Given the description of an element on the screen output the (x, y) to click on. 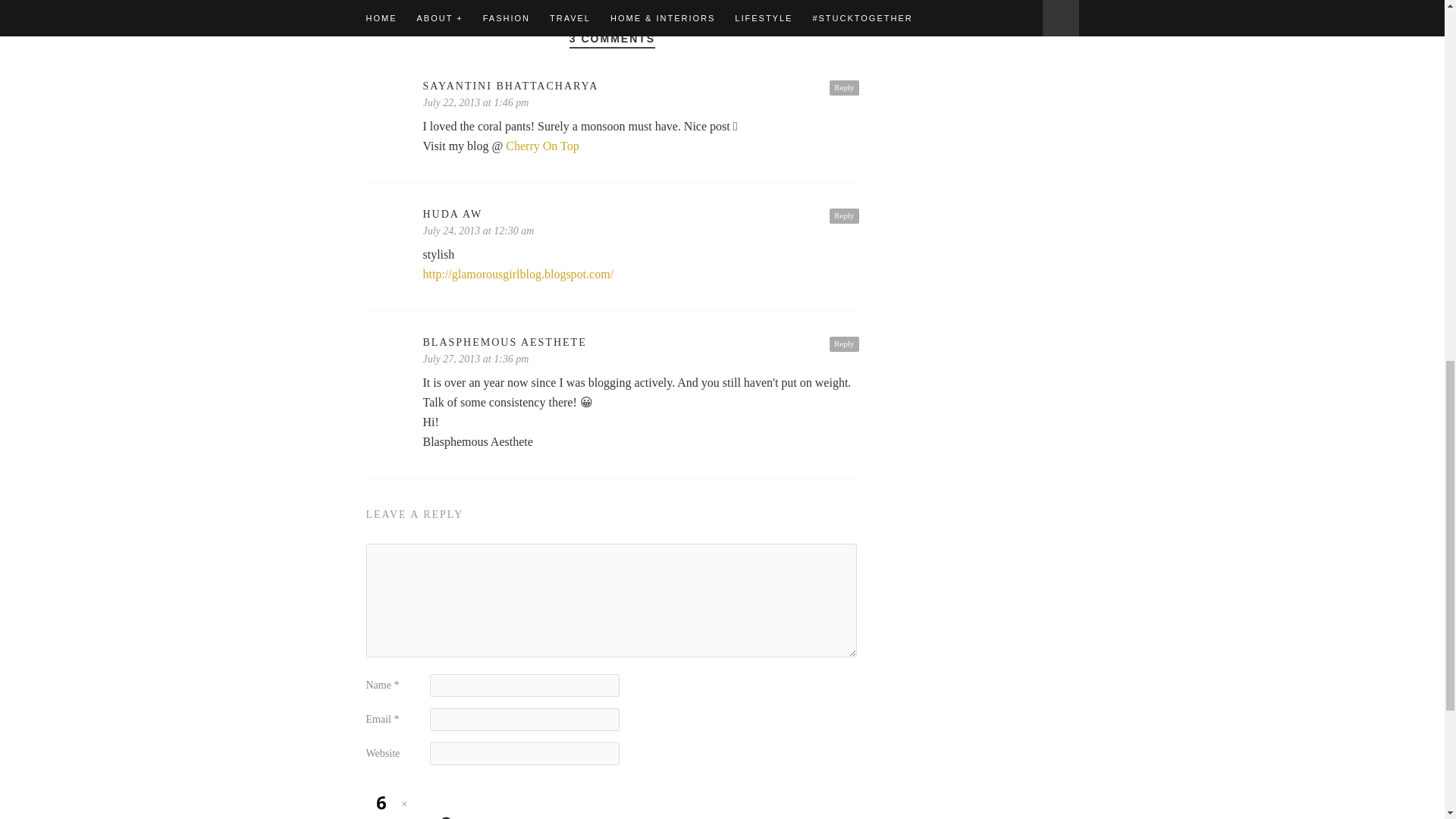
HUDA AW (641, 214)
Reply (844, 87)
SAYANTINI BHATTACHARYA (641, 86)
Reply (844, 344)
Reply (844, 215)
BLASPHEMOUS AESTHETE (641, 342)
Cherry On Top (541, 145)
